Given the description of an element on the screen output the (x, y) to click on. 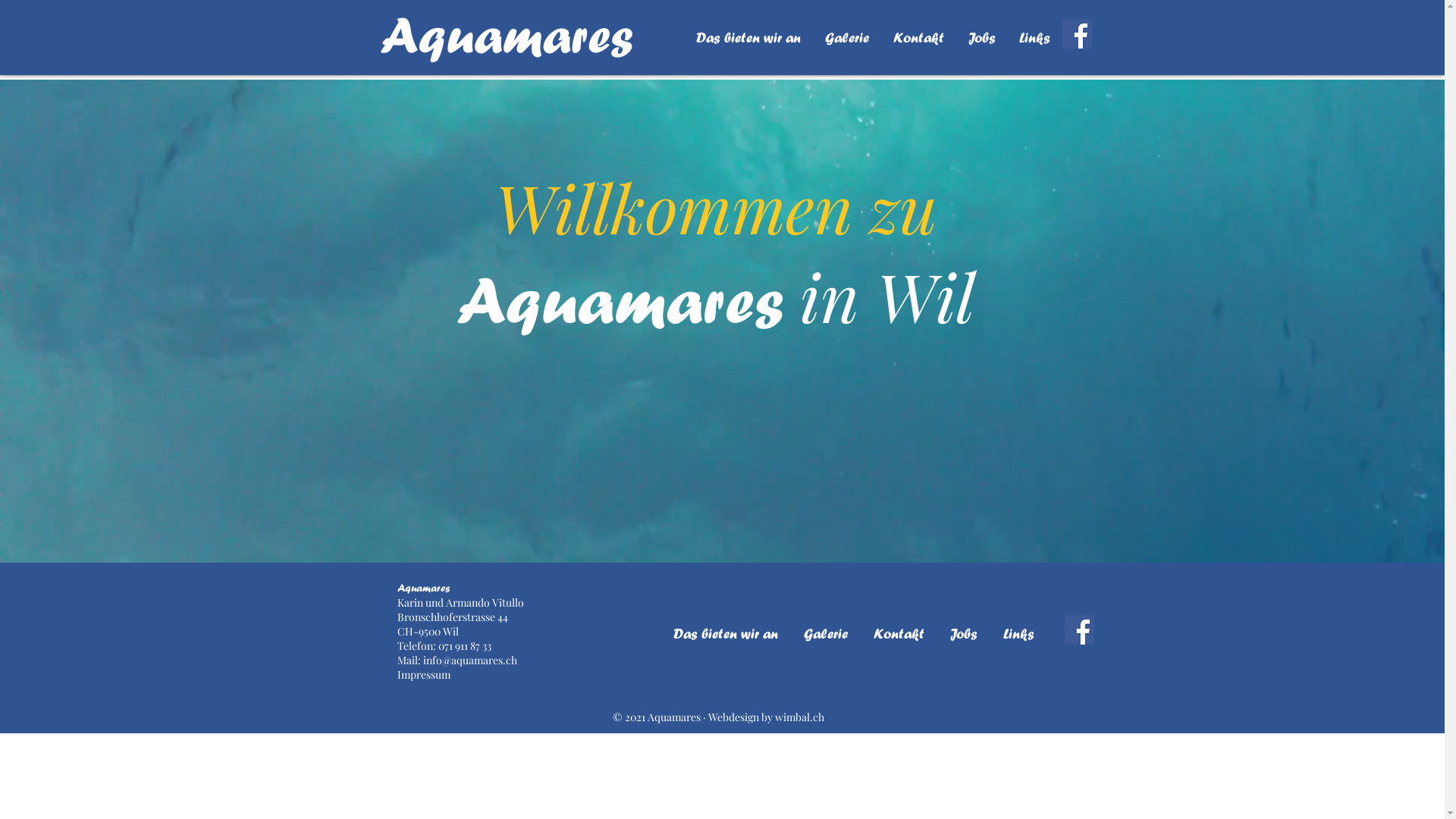
Kontakt Element type: text (918, 37)
Kontakt Element type: text (897, 633)
Jobs Element type: text (963, 633)
Telefon: 071 911 87 33 Element type: text (444, 645)
Links Element type: text (1034, 37)
Links Element type: text (1018, 633)
Galerie Element type: text (824, 633)
Webdesign by wimbal.ch Element type: text (766, 716)
Impressum Element type: text (423, 674)
Jobs Element type: text (981, 37)
Mail: info@aquamares.ch Element type: text (457, 659)
Galerie Element type: text (846, 37)
